Given the description of an element on the screen output the (x, y) to click on. 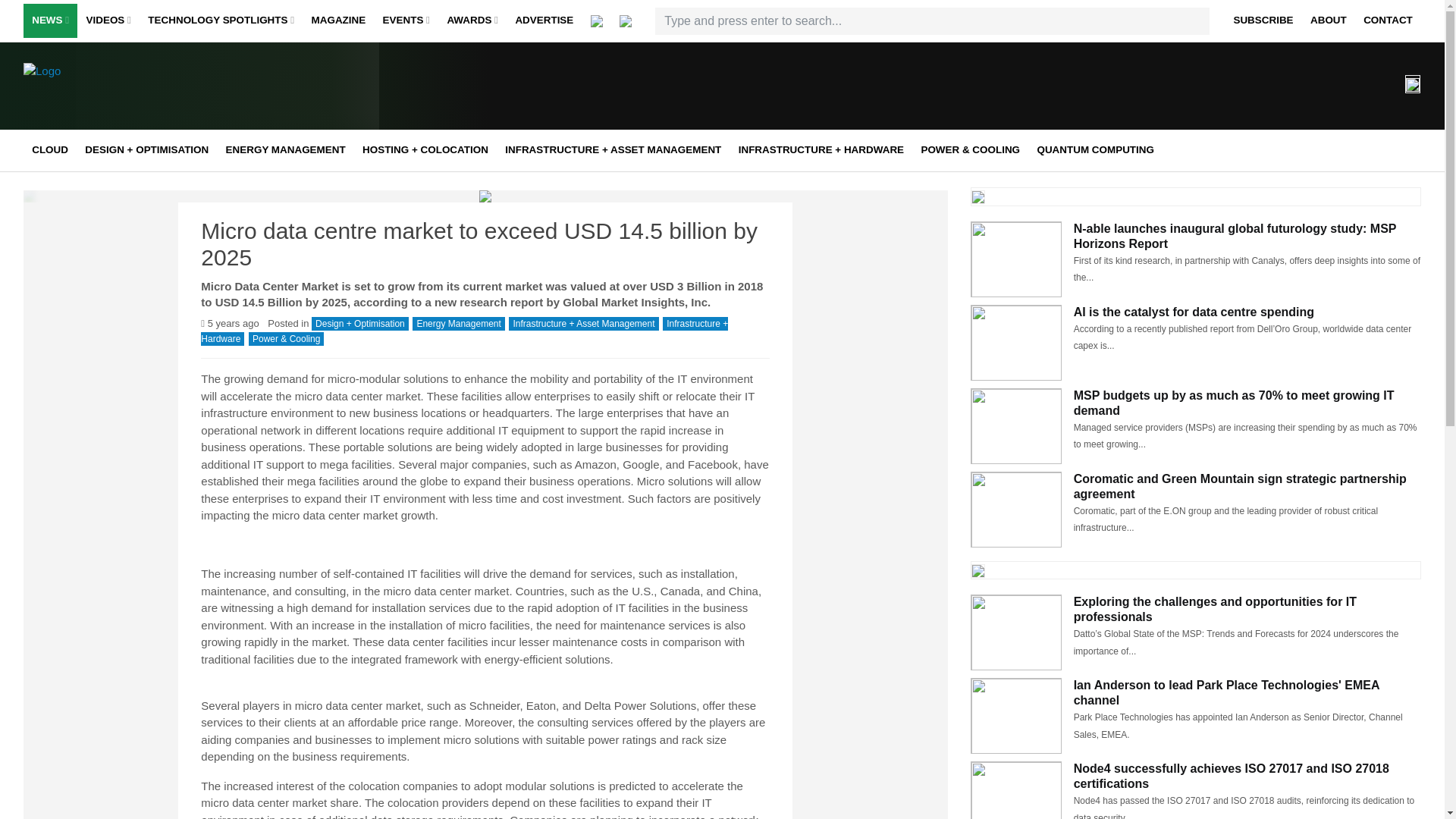
TECHNOLOGY SPOTLIGHTS (220, 21)
All Videos (180, 52)
VIDEOS (108, 21)
Event Directory (476, 52)
MAGAZINE (338, 21)
NEWS (50, 21)
AWARDS (472, 21)
All News (126, 52)
EVENTS (406, 21)
All Technology Spotlights (242, 52)
